Given the description of an element on the screen output the (x, y) to click on. 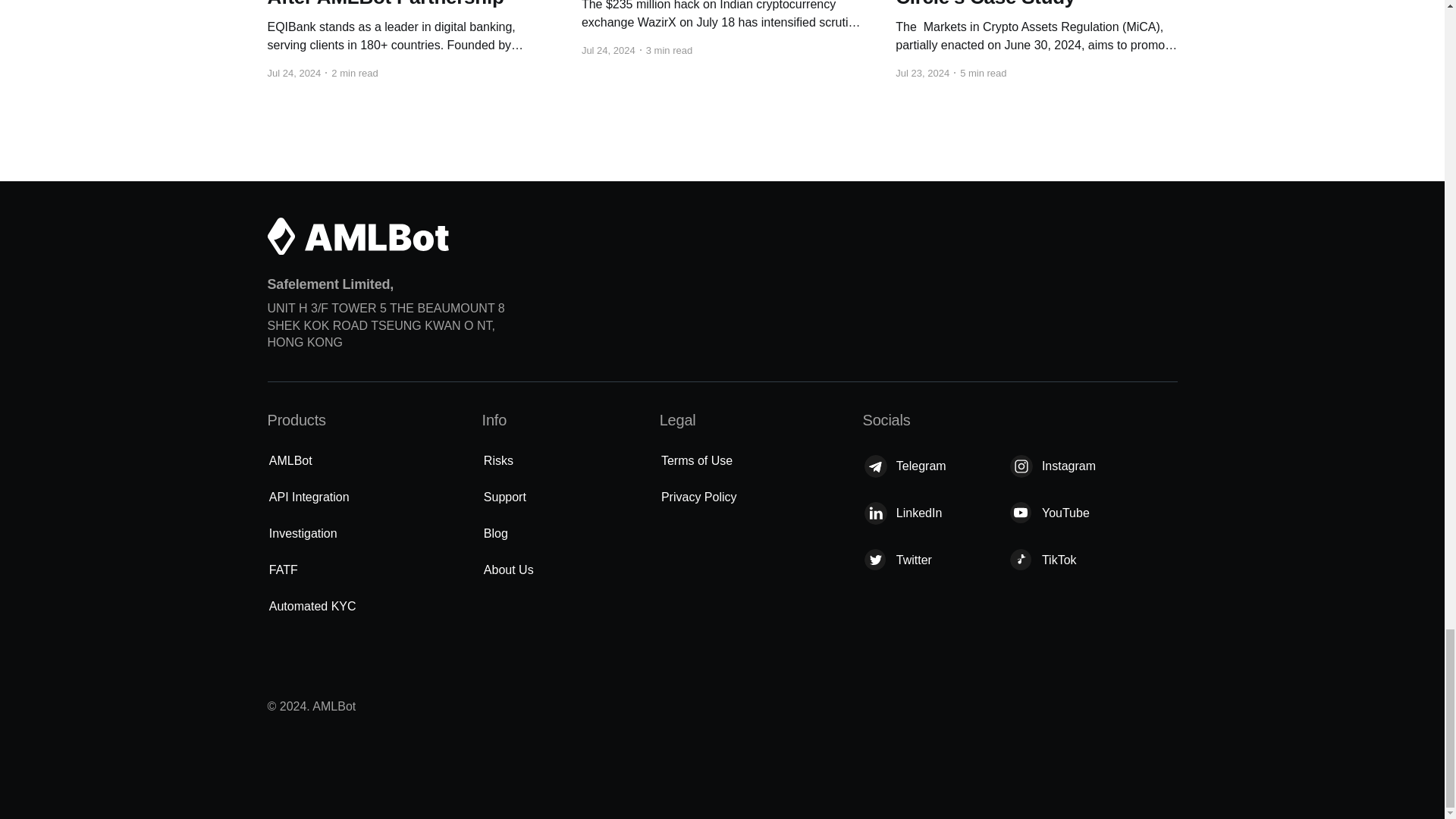
About Us (508, 569)
Investigation (303, 533)
Support (504, 496)
Risks (498, 460)
Terms of Use (696, 460)
API Integration (309, 496)
AMLBot (290, 460)
Blog (495, 533)
Automated KYC (312, 606)
FATF (283, 569)
